Given the description of an element on the screen output the (x, y) to click on. 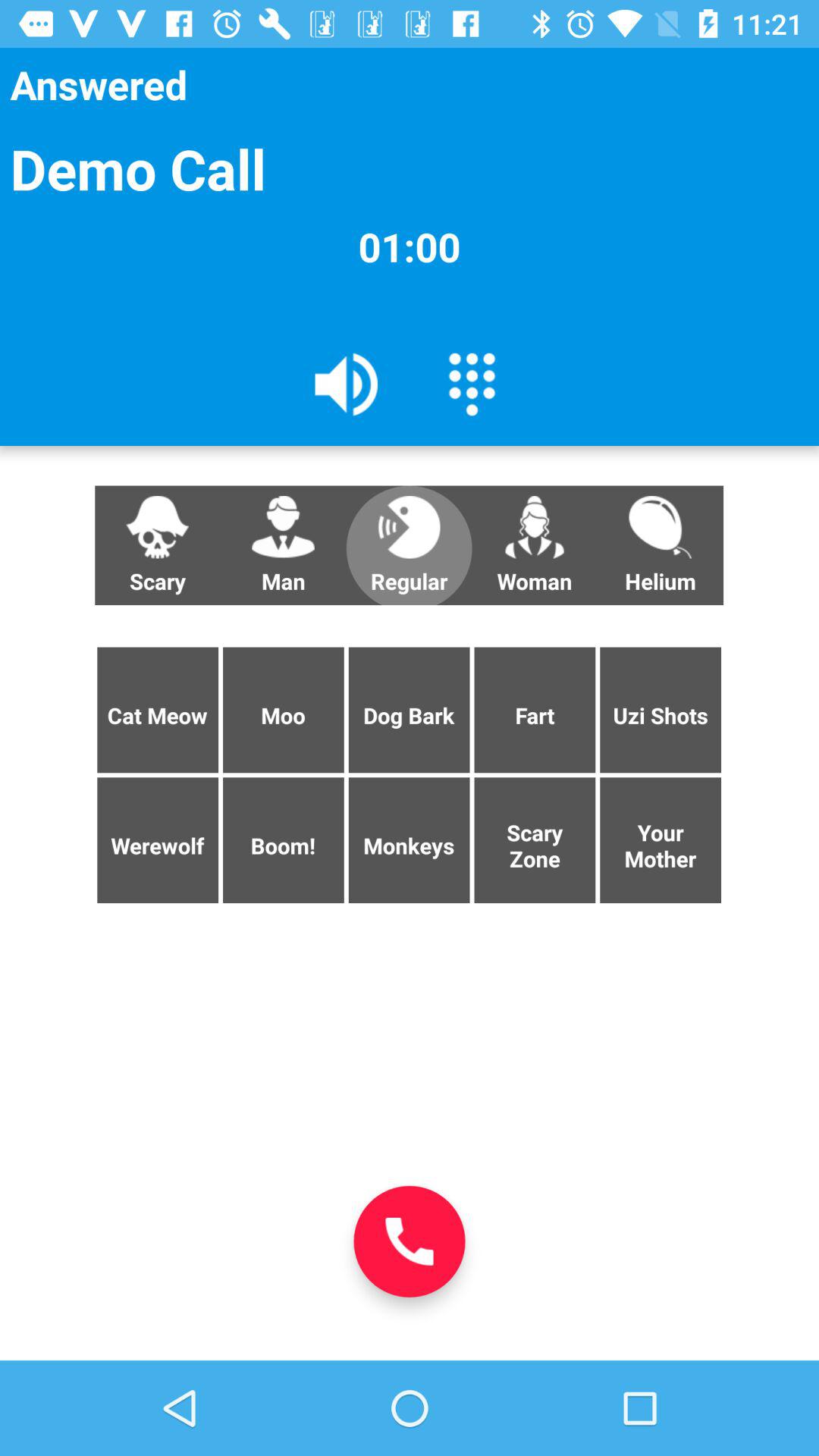
open the item below the 01:00 icon (346, 382)
